Given the description of an element on the screen output the (x, y) to click on. 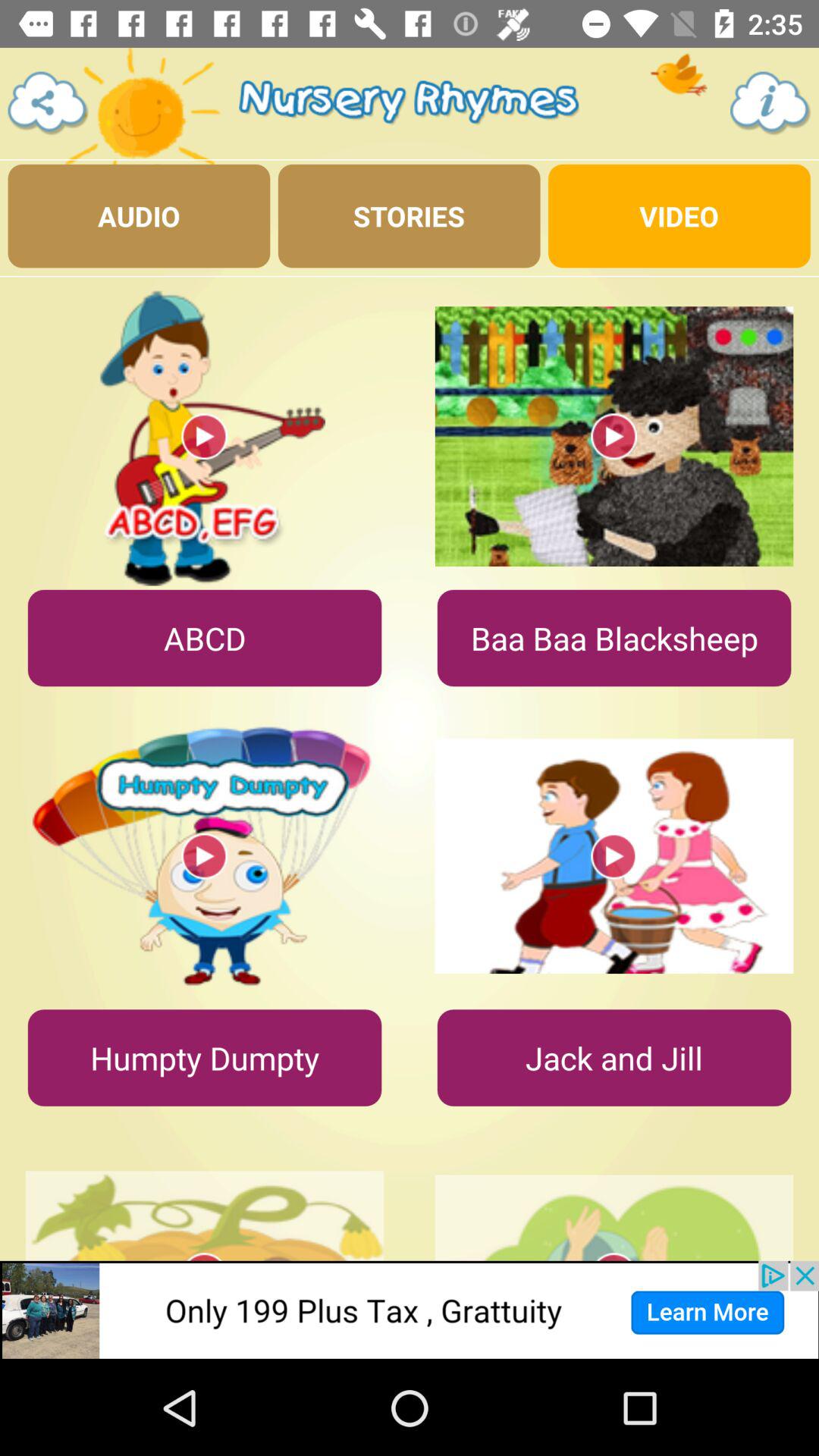
clicks the advertisement (409, 1310)
